Given the description of an element on the screen output the (x, y) to click on. 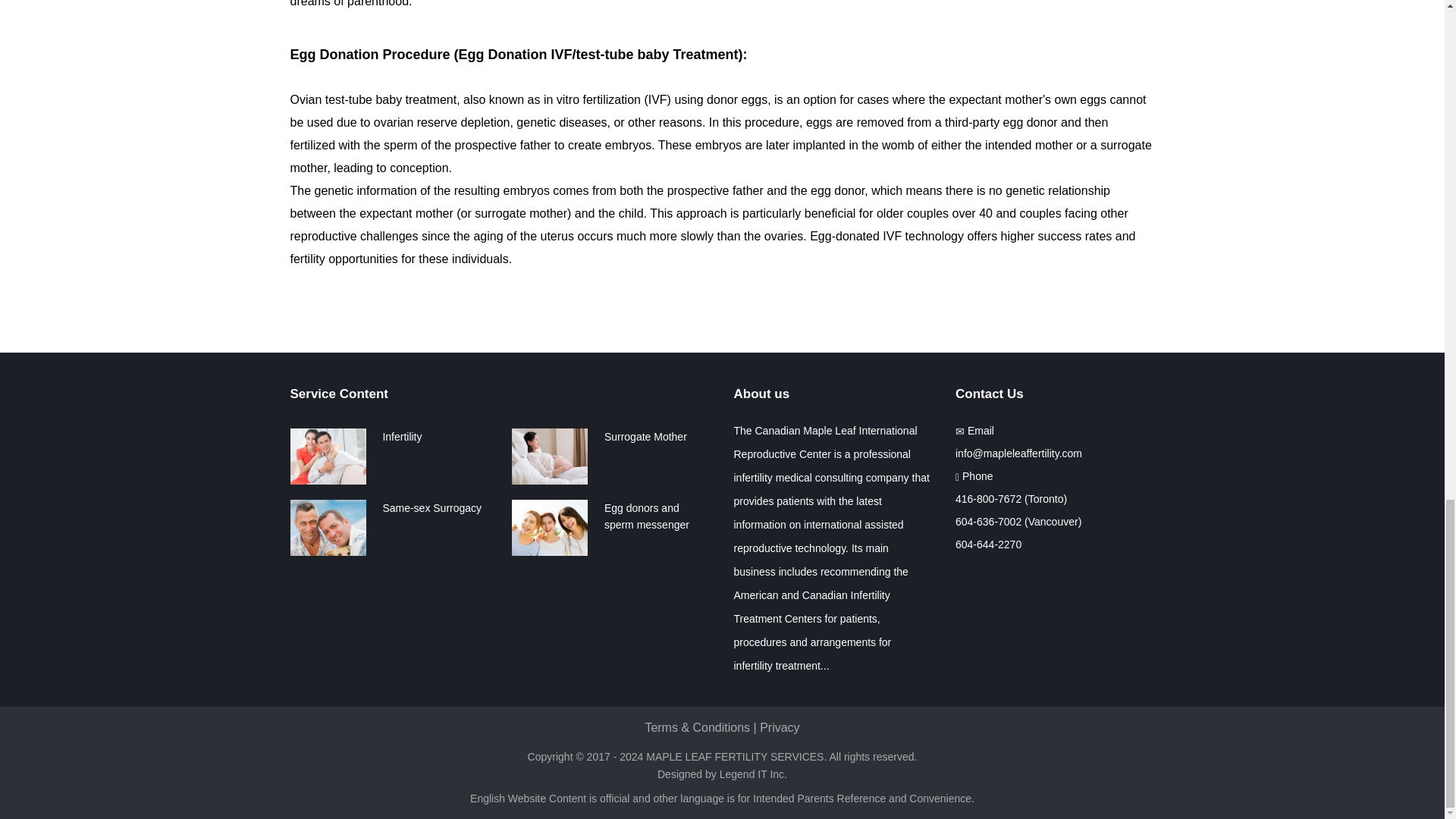
Surrogate Mother (645, 436)
About us (833, 394)
Privacy (779, 727)
Legend IT Inc (751, 774)
Contact Us (1054, 394)
Egg donors and sperm messenger (646, 516)
Infertility (401, 436)
604-644-2270 (988, 544)
Same-sex Surrogacy (431, 508)
